Given the description of an element on the screen output the (x, y) to click on. 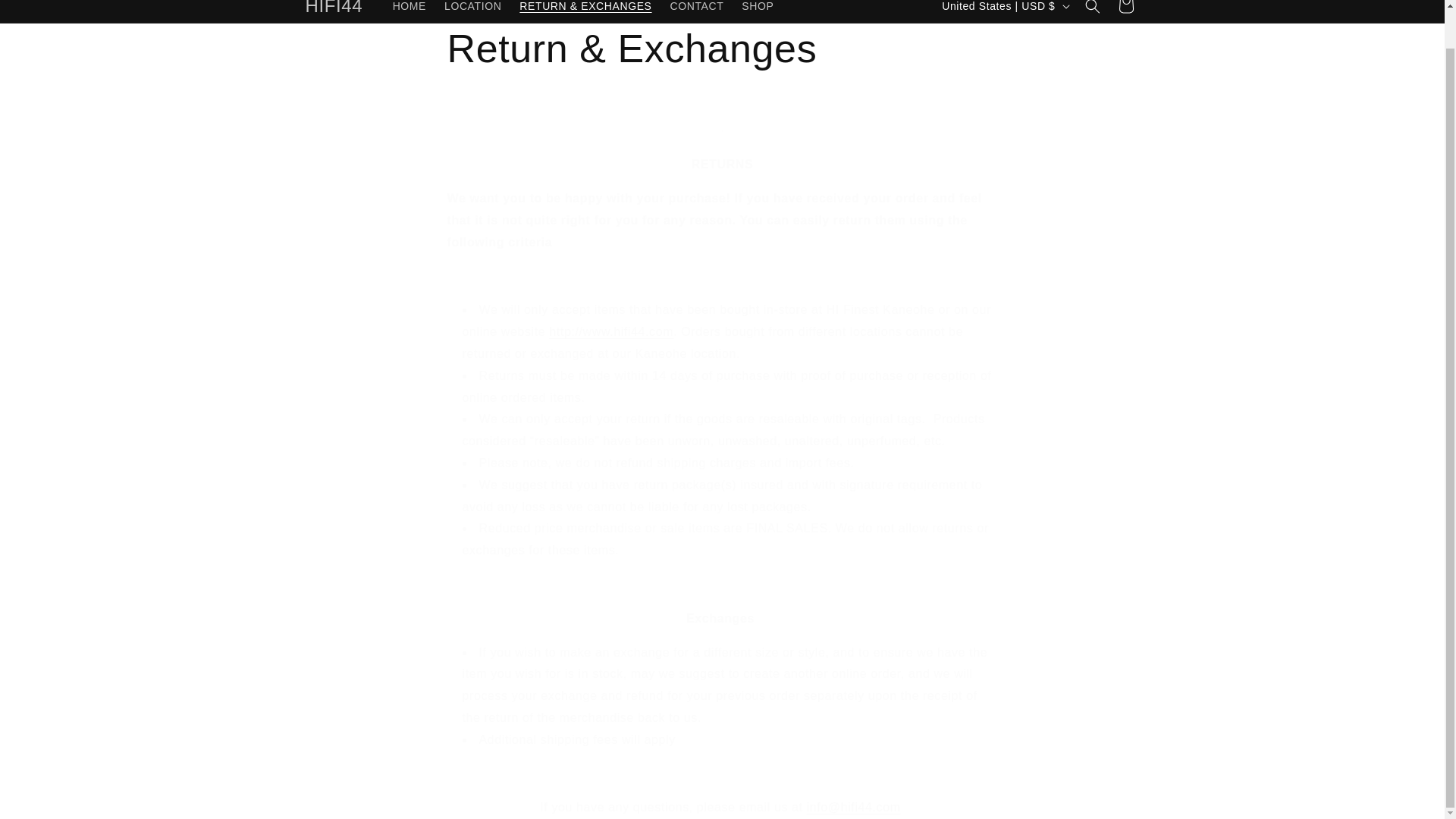
SHOP (757, 11)
LOCATION (473, 11)
CONTACT (697, 11)
HOME (409, 11)
HIFI44 (333, 10)
Cart (1124, 11)
